Given the description of an element on the screen output the (x, y) to click on. 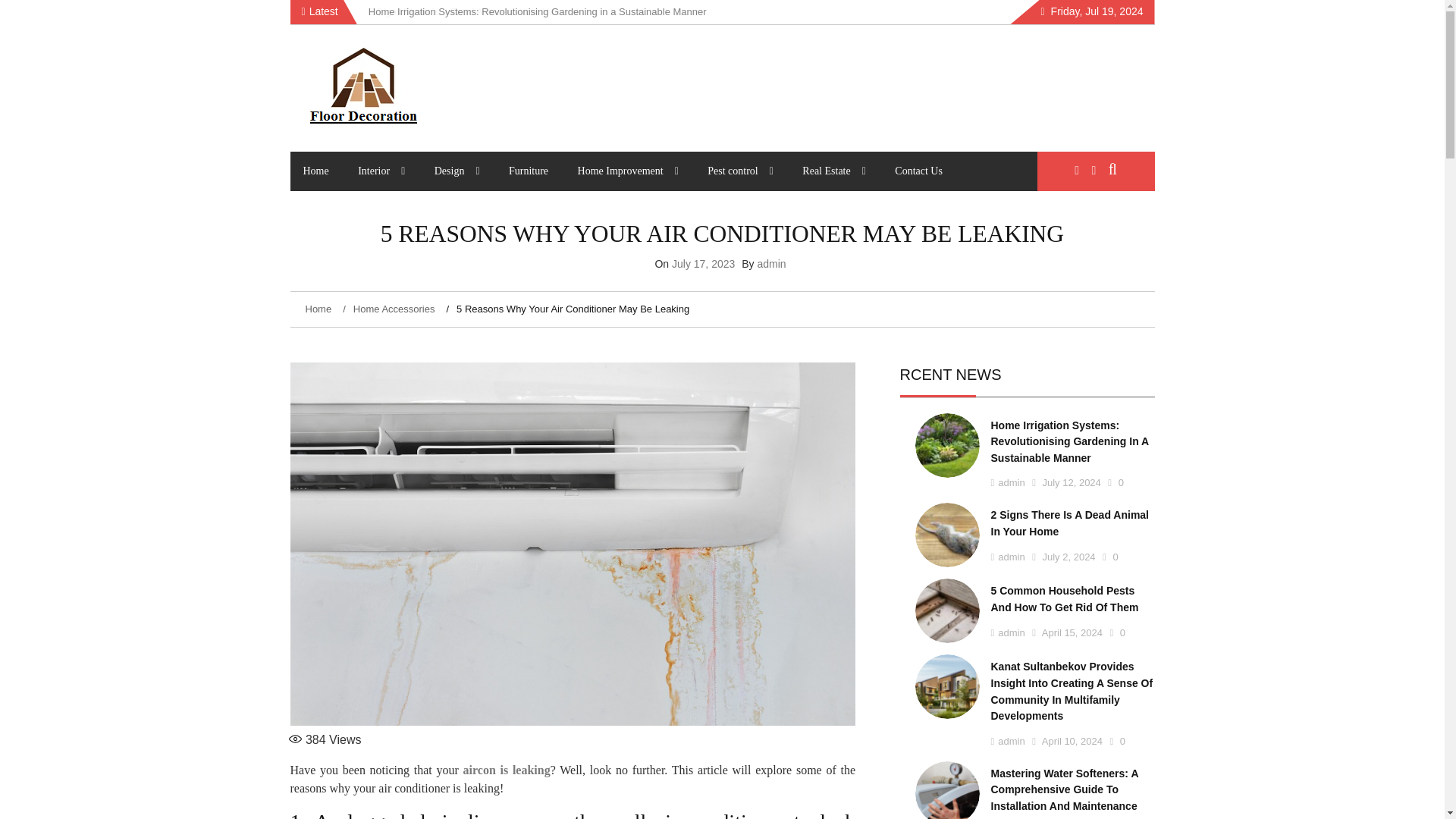
Pest control (740, 170)
Home (314, 170)
2 Signs There is a Dead Animal in Your Home (468, 11)
Real Estate (834, 170)
Interior (381, 170)
Home Improvement (627, 170)
Design (457, 170)
Contact Us (918, 170)
Furniture (528, 170)
